Given the description of an element on the screen output the (x, y) to click on. 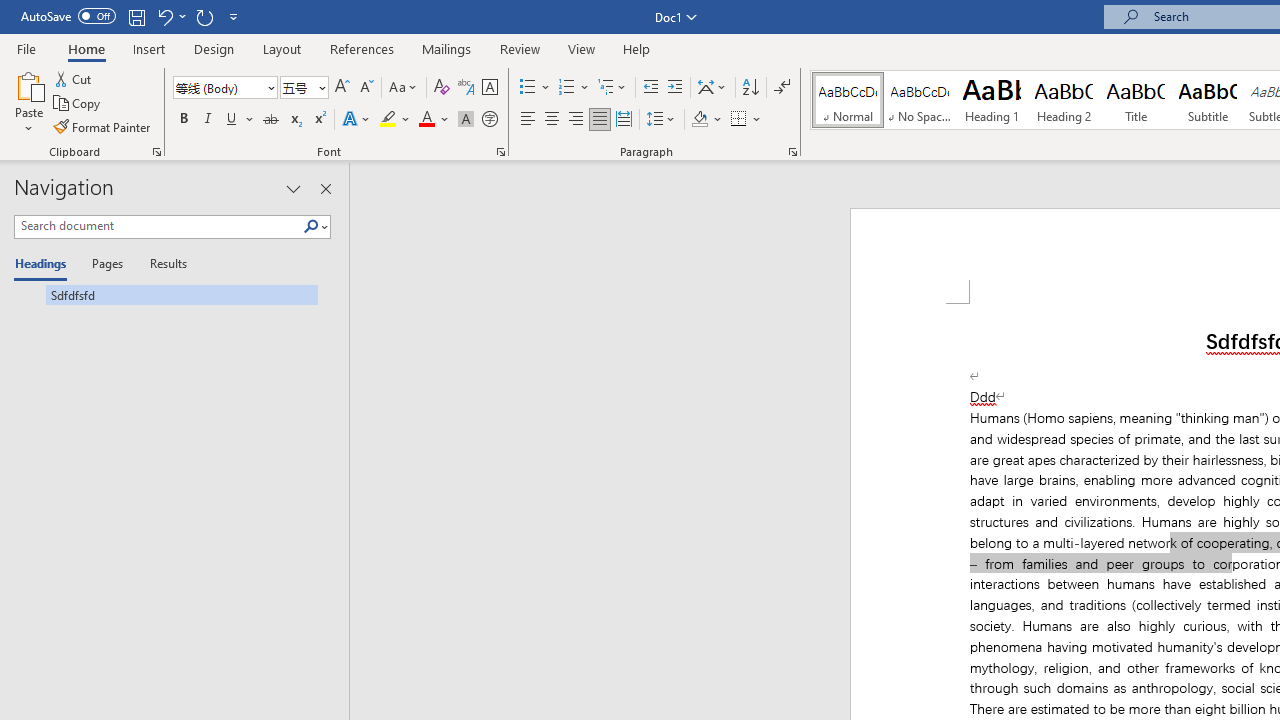
Heading 1 (991, 100)
Font Color Red (426, 119)
Title (1135, 100)
Class: NetUIImage (311, 226)
Show/Hide Editing Marks (781, 87)
Save (136, 15)
Format Painter (103, 126)
References (362, 48)
Superscript (319, 119)
Font... (500, 151)
Clear Formatting (442, 87)
Customize Quick Access Toolbar (234, 15)
Sdfdfsfd (166, 294)
Paste (28, 102)
